Given the description of an element on the screen output the (x, y) to click on. 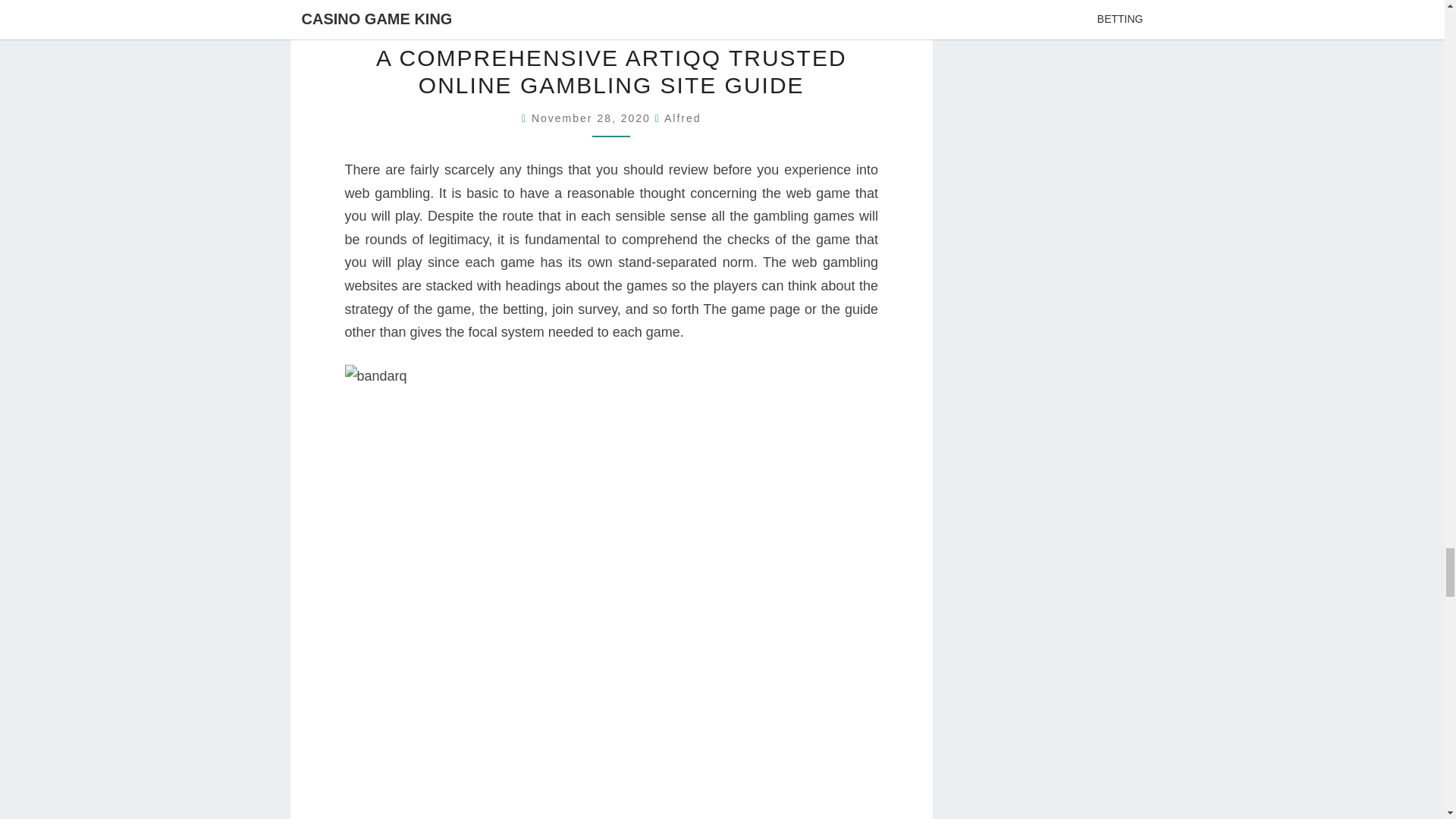
November 28, 2020 (593, 118)
6:25 am (593, 118)
A COMPREHENSIVE ARTIQQ TRUSTED ONLINE GAMBLING SITE GUIDE (611, 71)
Alfred (682, 118)
View all posts by Alfred (682, 118)
